Given the description of an element on the screen output the (x, y) to click on. 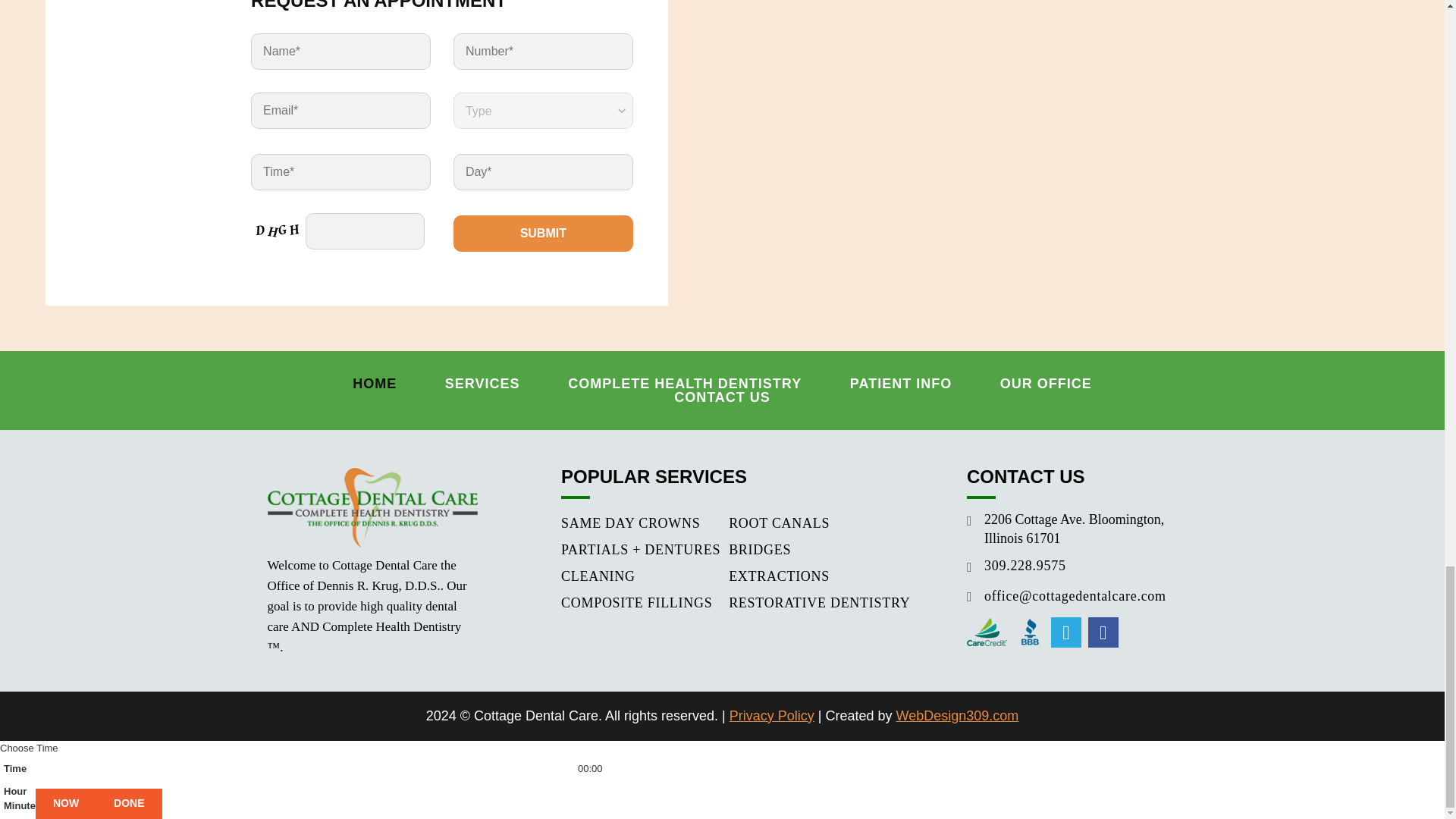
submit (542, 233)
